Given the description of an element on the screen output the (x, y) to click on. 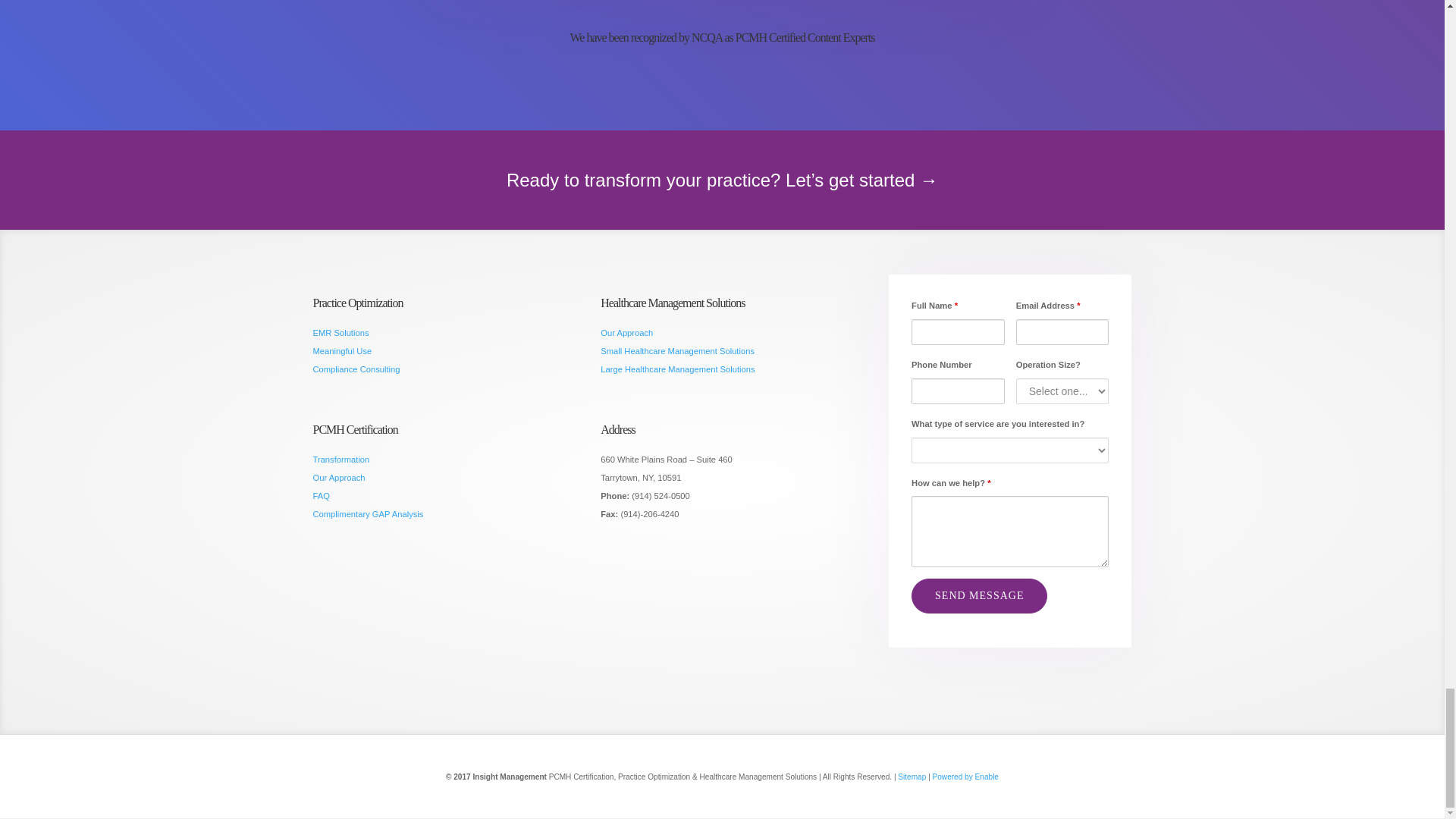
Transformation (341, 459)
EMR Solutions (340, 332)
Sitemap (912, 777)
Meaningful Use (342, 350)
Powered by (952, 777)
Complimentary GAP Analysis (368, 513)
Compliance Consulting (355, 368)
Send Message (978, 595)
Enable (986, 777)
Large Healthcare Management Solutions (676, 368)
Our Approach (339, 477)
Send Message (978, 595)
Small Healthcare Management Solutions (676, 350)
FAQ (321, 495)
Our Approach (625, 332)
